Given the description of an element on the screen output the (x, y) to click on. 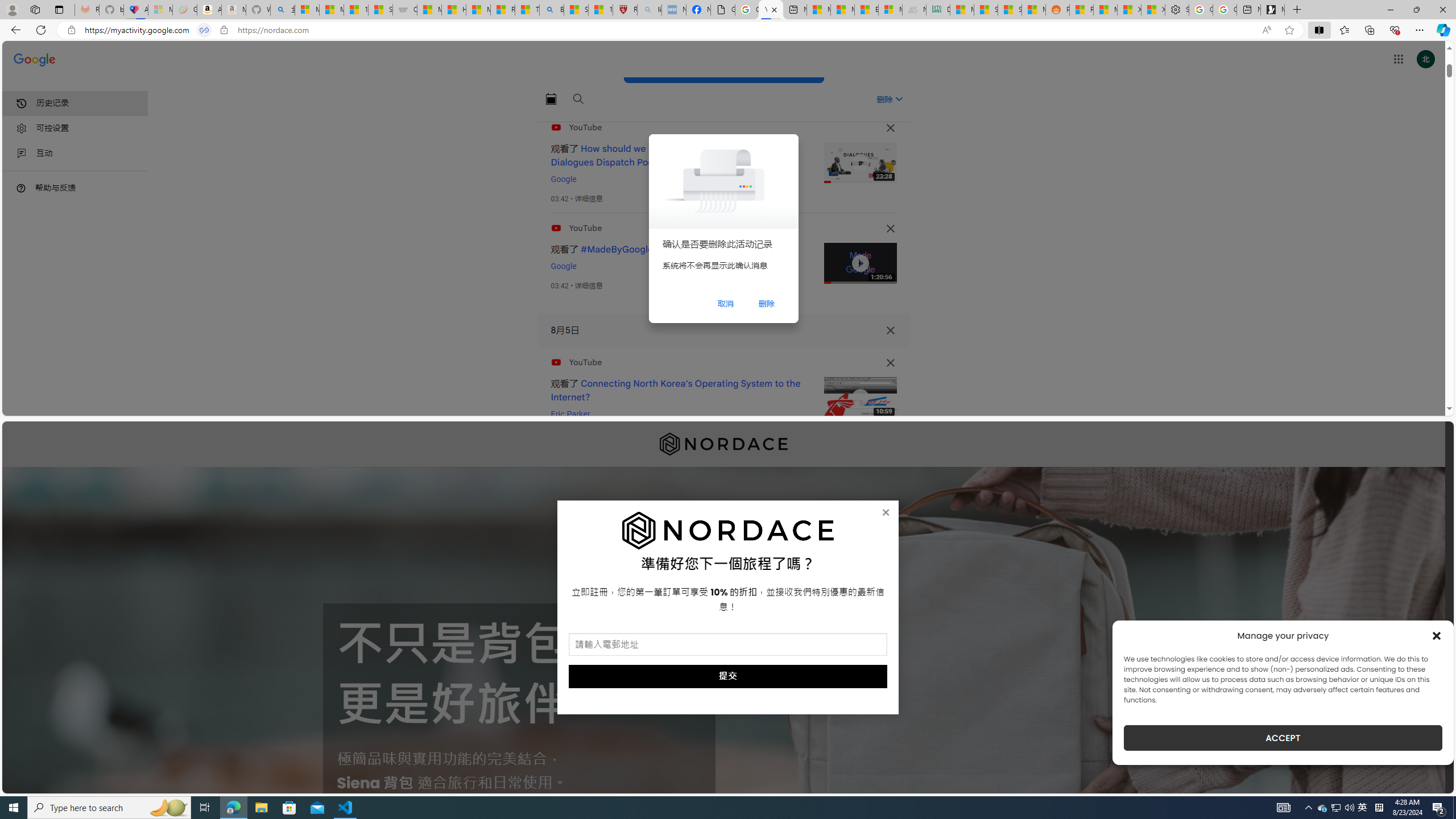
ACCEPT (1283, 737)
Class: DTiKkd NMm5M (21, 188)
AutomationID: input_5_1 (727, 644)
